Given the description of an element on the screen output the (x, y) to click on. 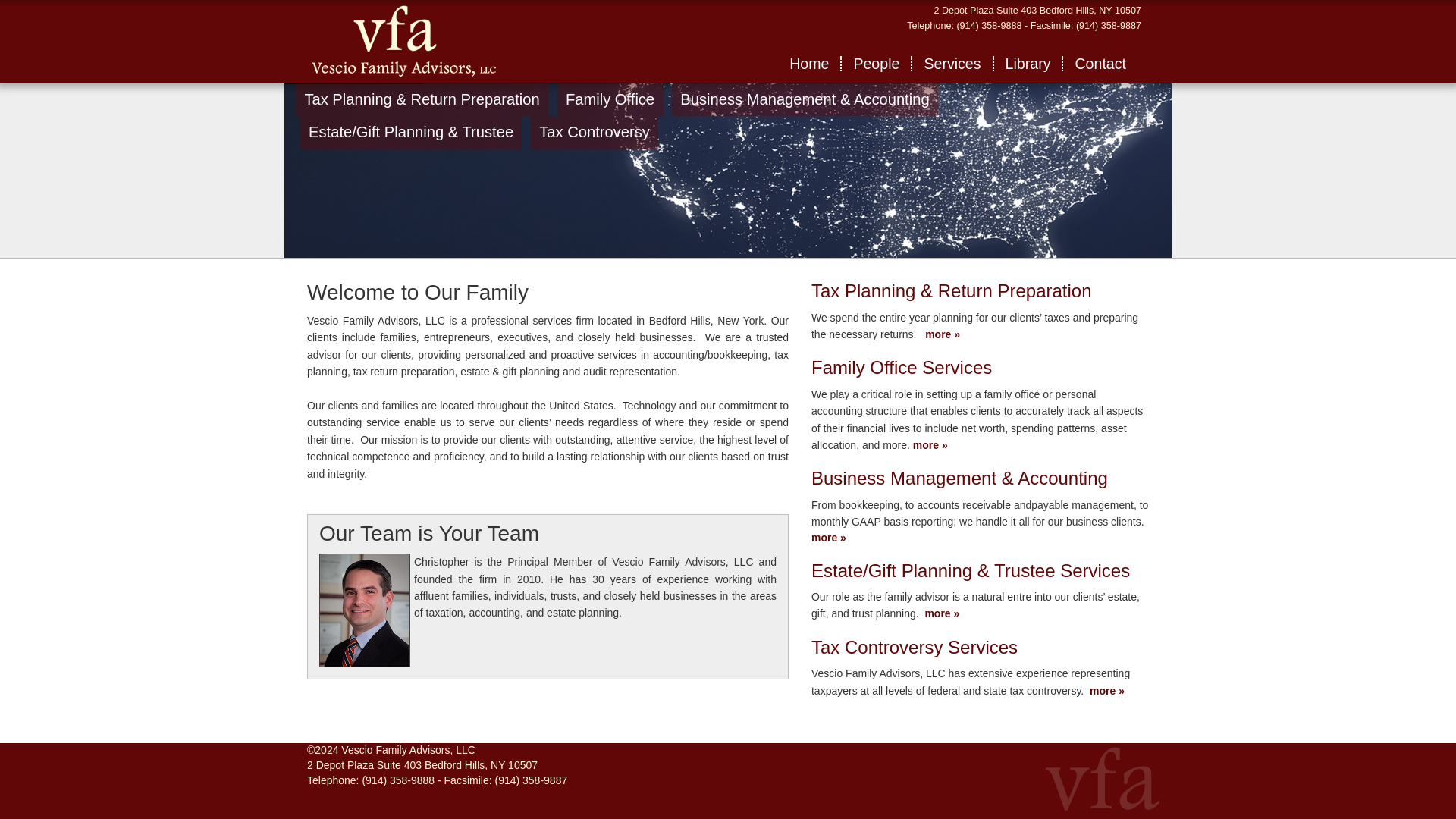
Library (1029, 63)
Tax Controversy (593, 131)
Family Office Services (900, 367)
Contact (1099, 63)
Family Office (609, 98)
Tax Controversy Services (913, 647)
Services (952, 63)
People (876, 63)
Home (809, 63)
